Given the description of an element on the screen output the (x, y) to click on. 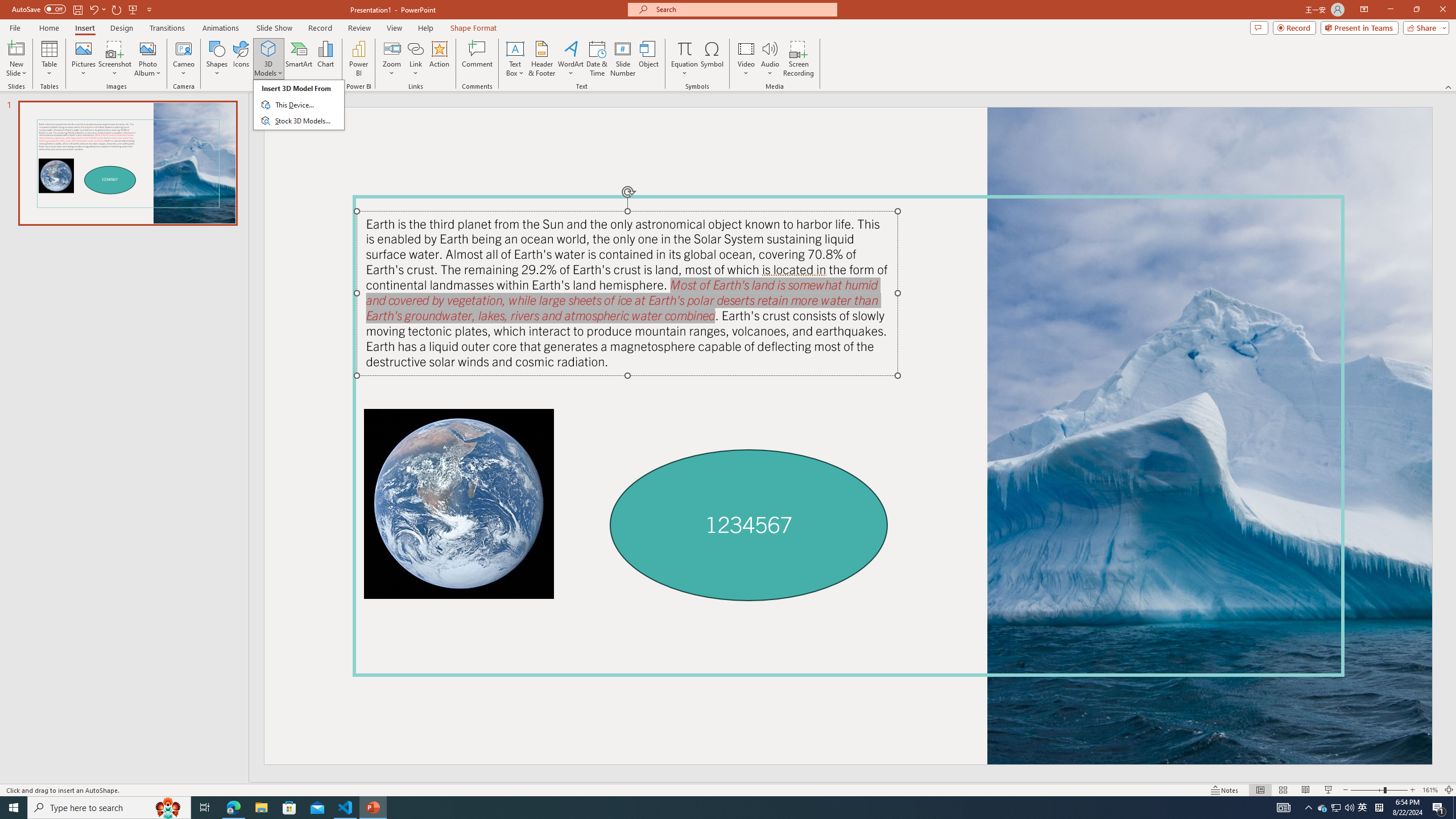
Header & Footer... (541, 58)
New Photo Album... (147, 48)
Symbol... (711, 58)
